Given the description of an element on the screen output the (x, y) to click on. 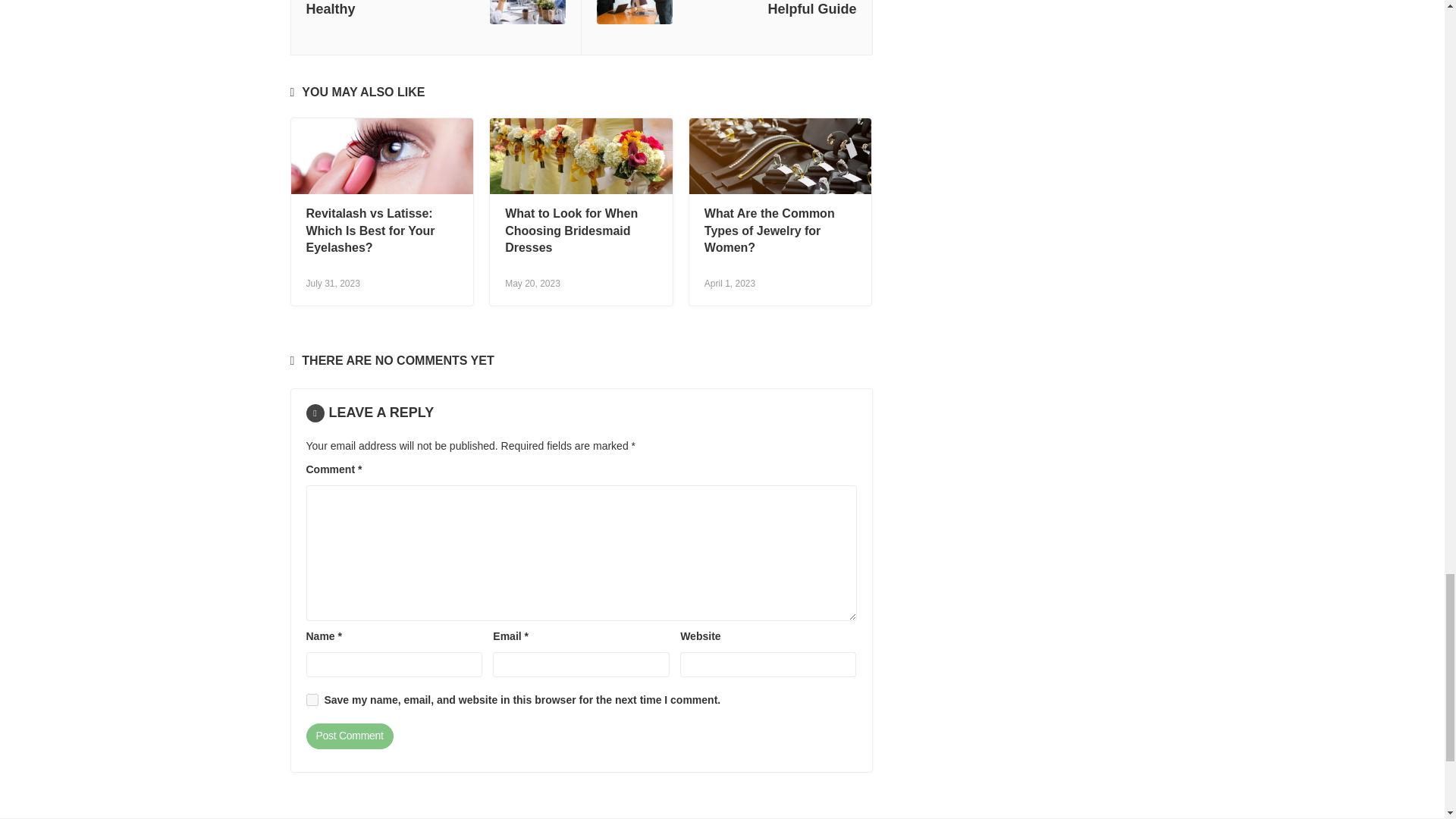
Post Comment (349, 736)
yes (311, 699)
